Given the description of an element on the screen output the (x, y) to click on. 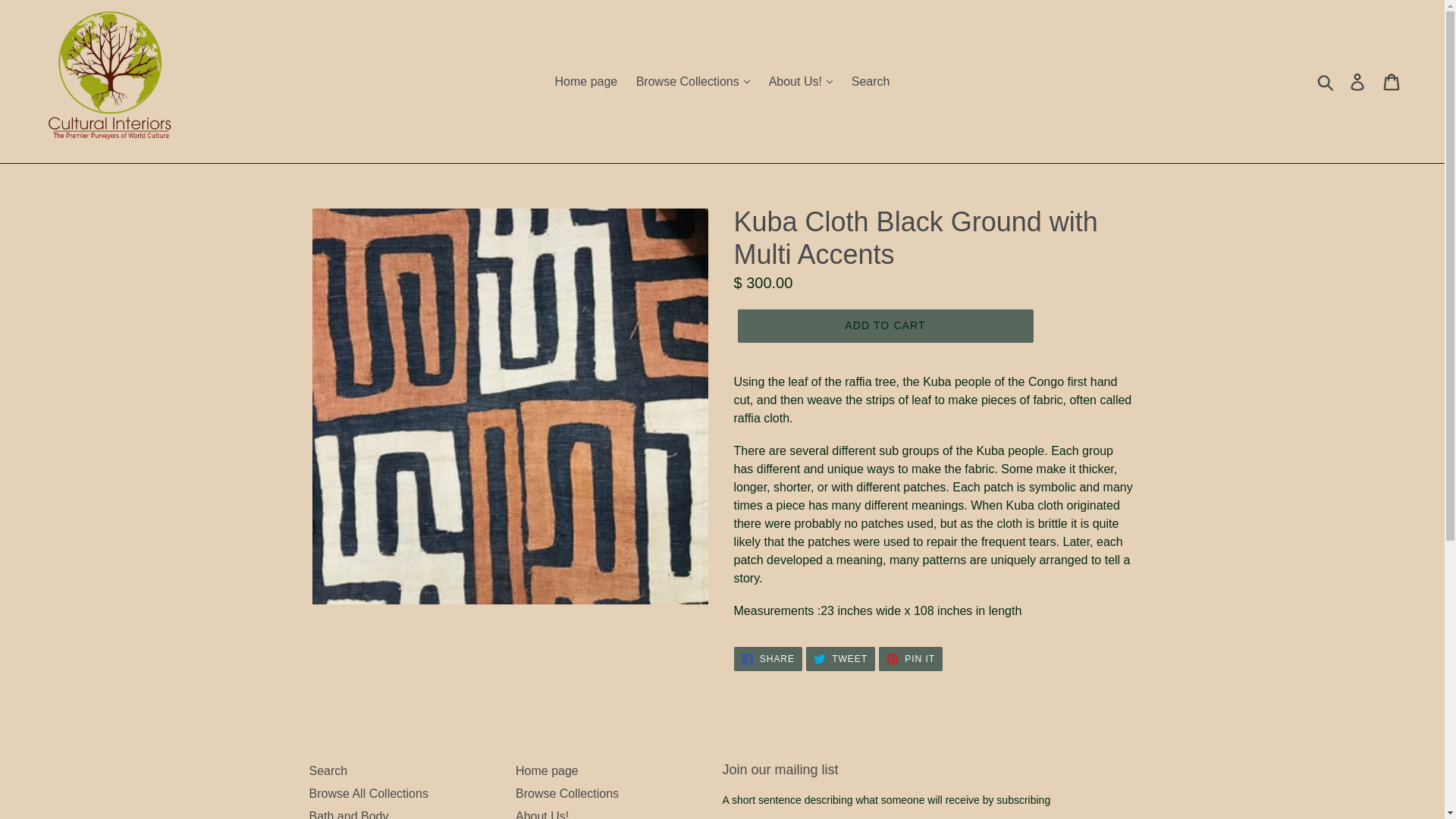
Home page (586, 81)
Cart (1392, 80)
Submit (1326, 81)
Log in (1357, 80)
Search (871, 81)
